Given the description of an element on the screen output the (x, y) to click on. 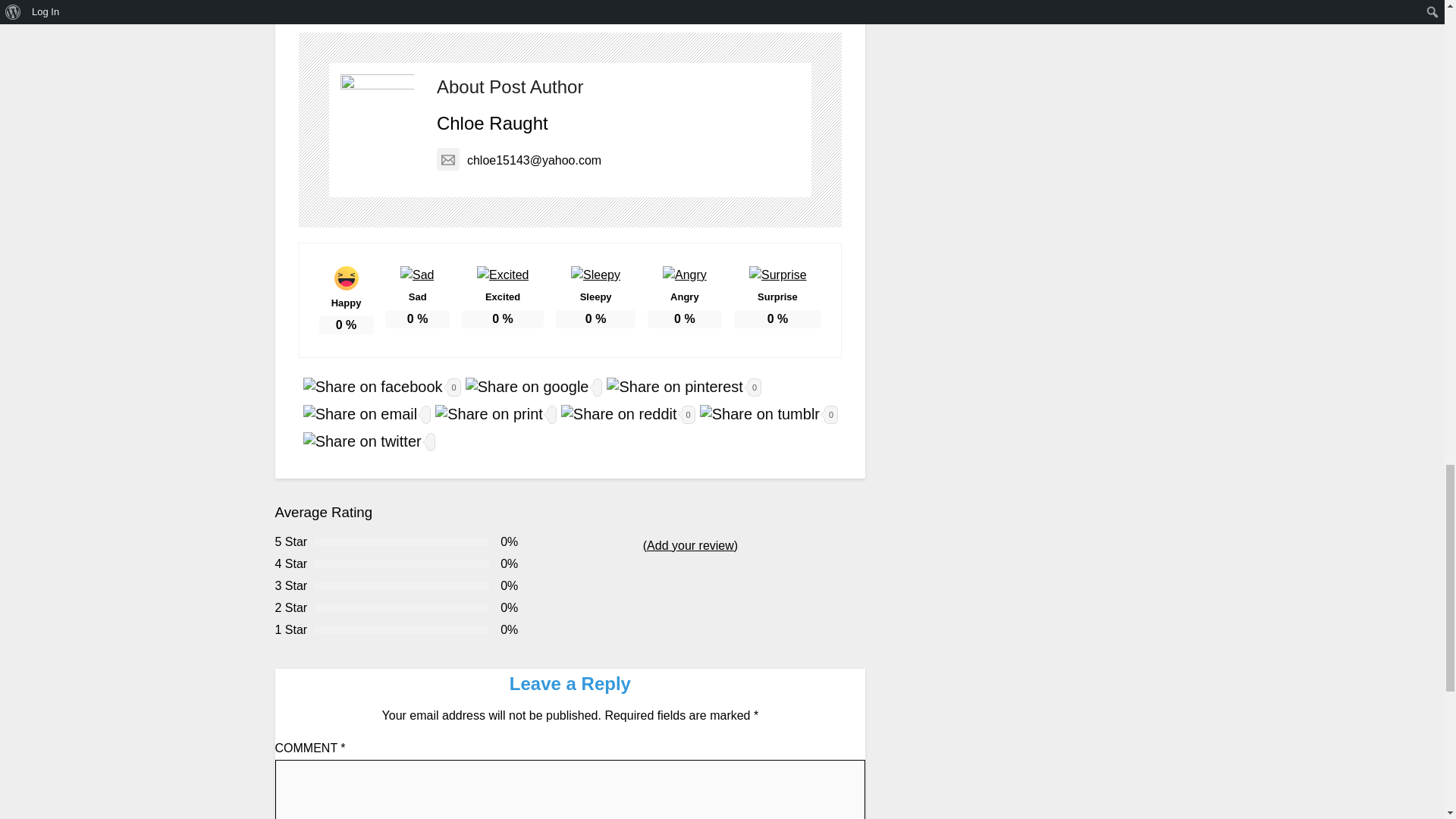
Twitter (463, 8)
0 (766, 412)
email (360, 413)
Facebook (355, 8)
tumblr (759, 413)
Chloe Raught (492, 123)
google (527, 386)
pinterest (674, 386)
0 (379, 384)
Pinterest (568, 8)
